Given the description of an element on the screen output the (x, y) to click on. 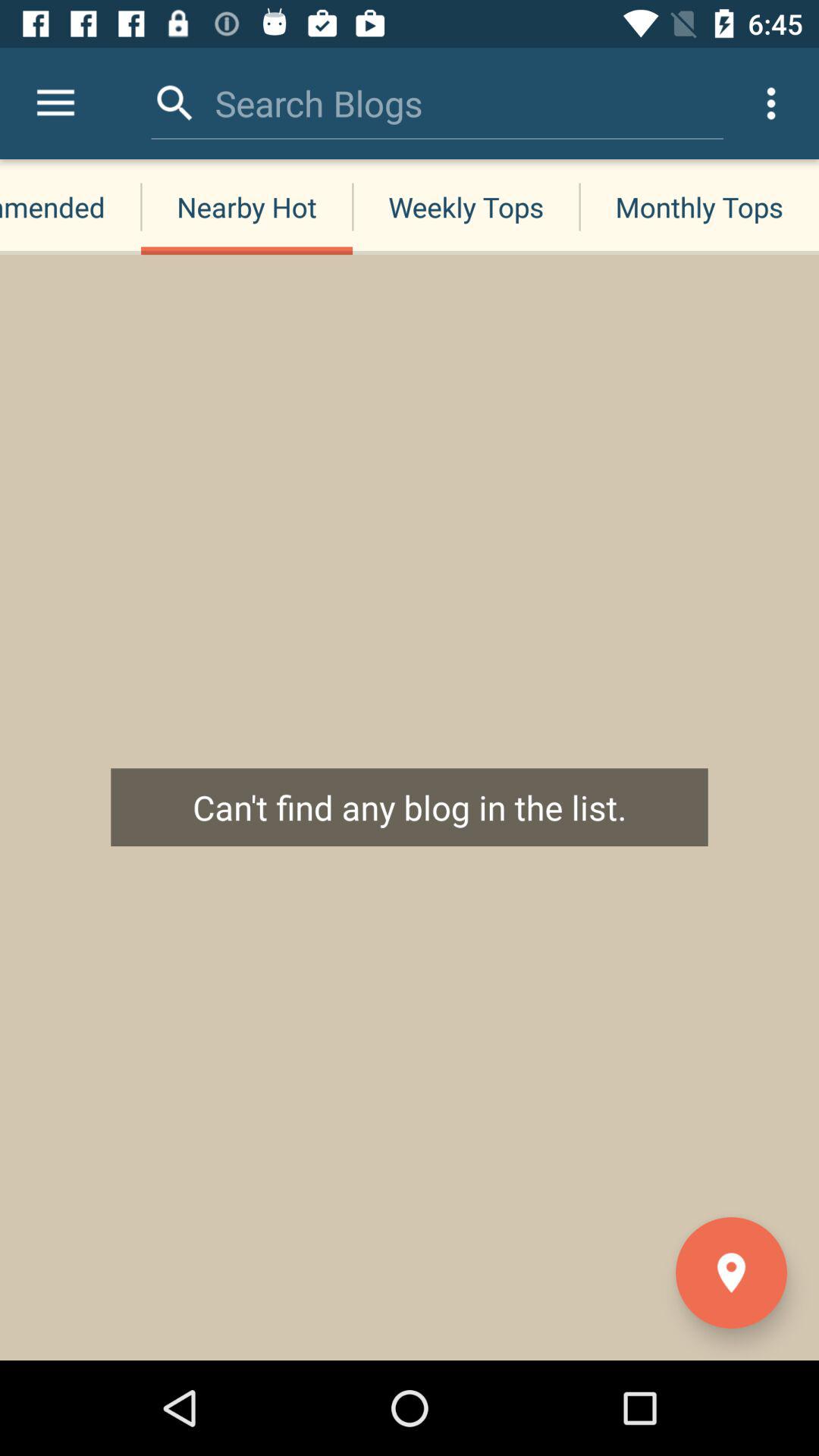
click item below the search blogs (465, 206)
